Given the description of an element on the screen output the (x, y) to click on. 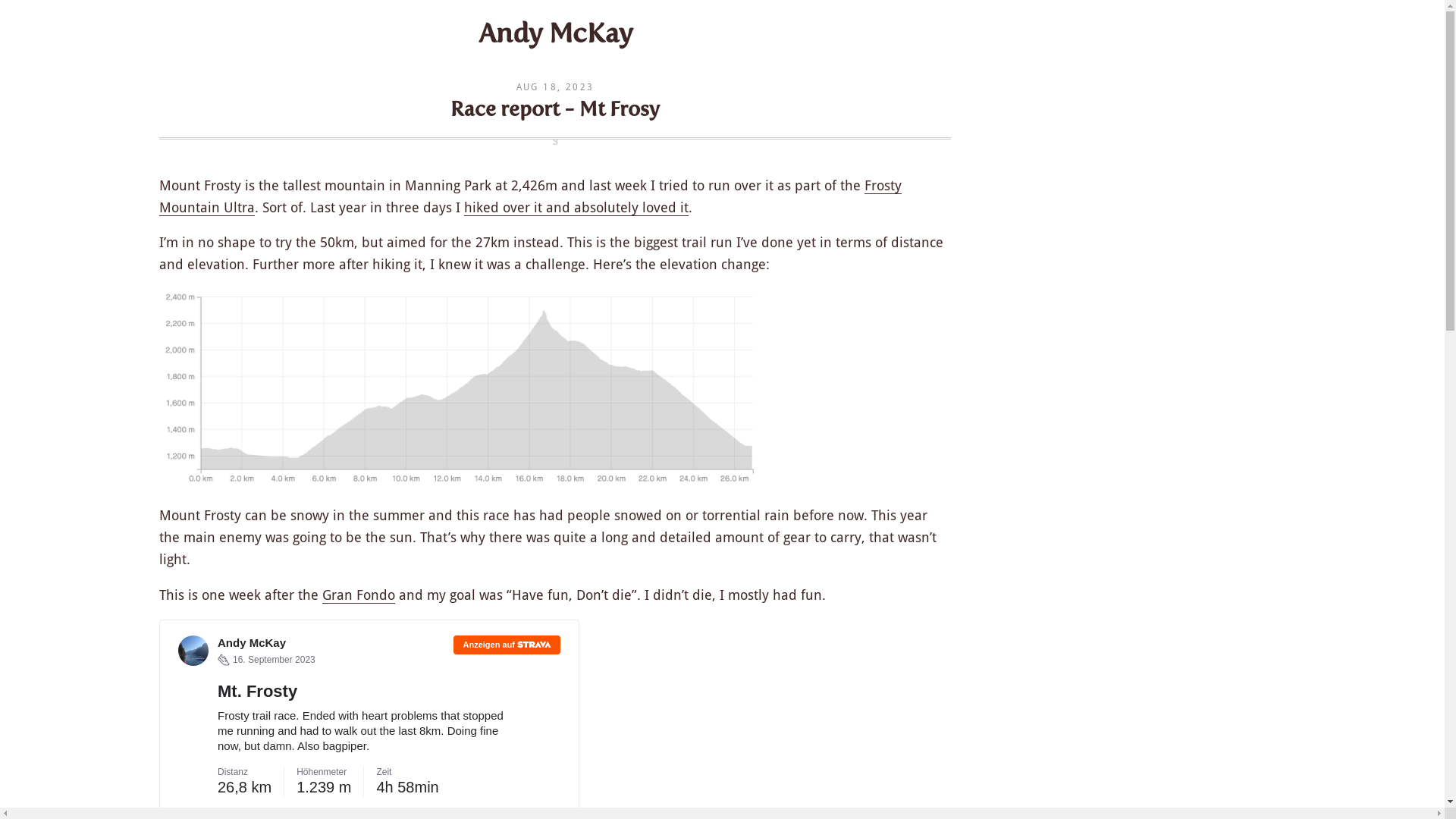
Andy McKay Element type: text (554, 32)
Frosty Mountain Ultra Element type: text (530, 196)
hiked over it and absolutely loved it Element type: text (576, 206)
Gran Fondo Element type: text (358, 594)
Race report - Mt Frosy Element type: text (554, 108)
